Given the description of an element on the screen output the (x, y) to click on. 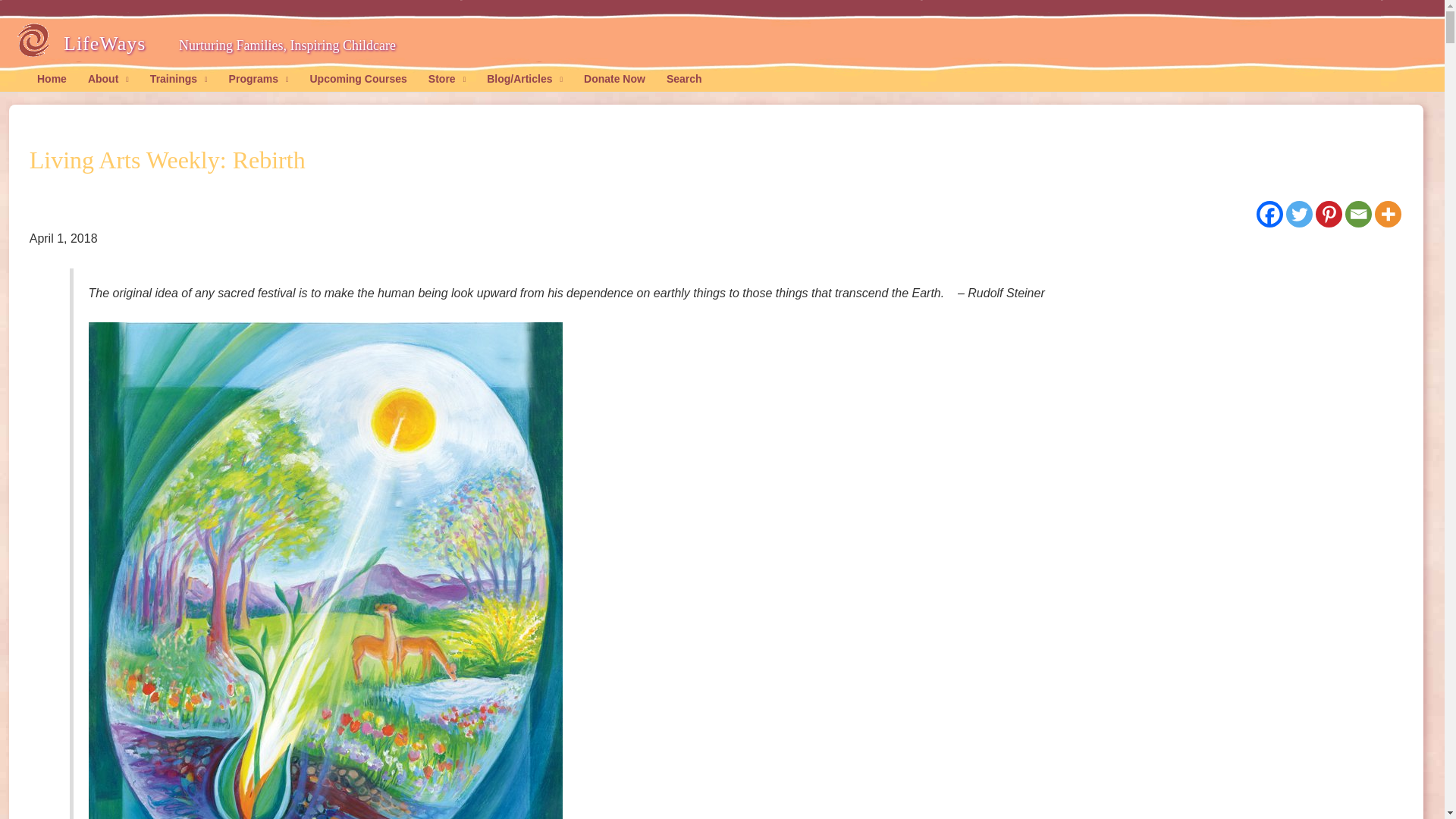
Store (446, 79)
Email (1358, 213)
Upcoming Courses (357, 79)
LifeWays (107, 43)
Programs (258, 79)
About (108, 79)
More (1387, 213)
Trainings (178, 79)
Facebook (1269, 213)
Twitter (1299, 213)
Home (51, 79)
Pinterest (1329, 213)
